Given the description of an element on the screen output the (x, y) to click on. 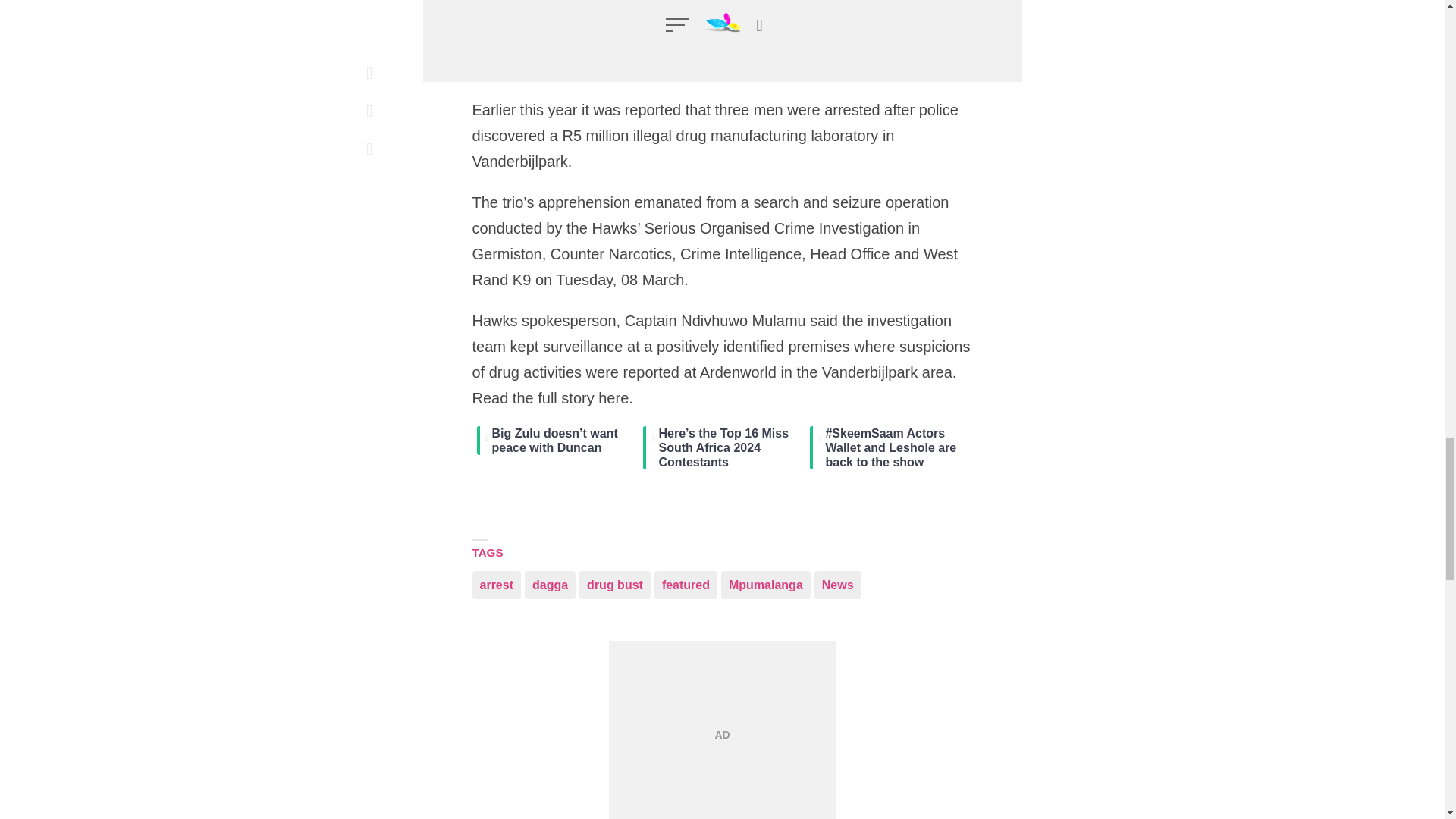
drug bust (614, 584)
featured (685, 584)
News (837, 584)
Mpumalanga (765, 584)
dagga (549, 584)
arrest (495, 584)
